Given the description of an element on the screen output the (x, y) to click on. 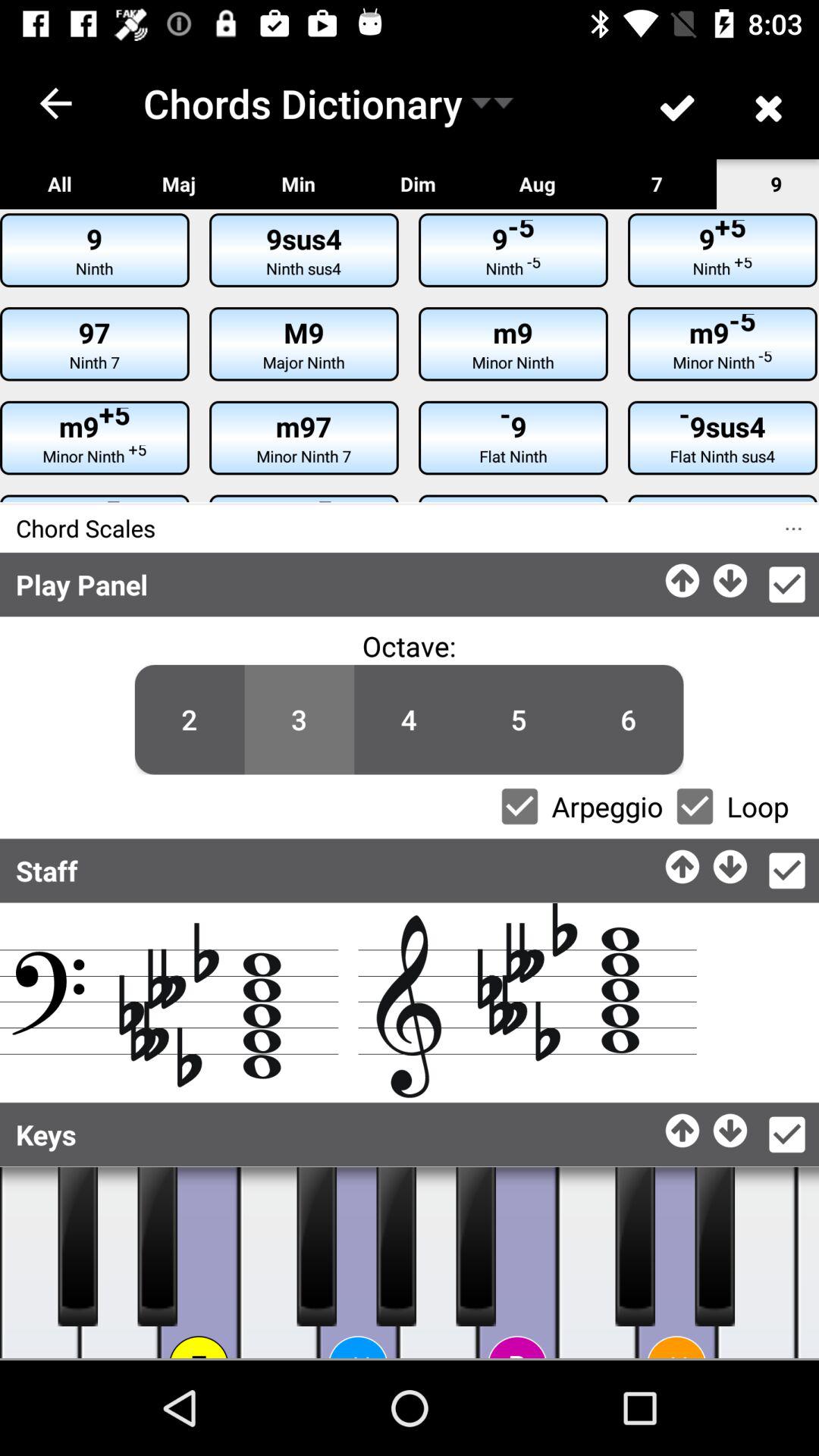
go to download (731, 576)
